Given the description of an element on the screen output the (x, y) to click on. 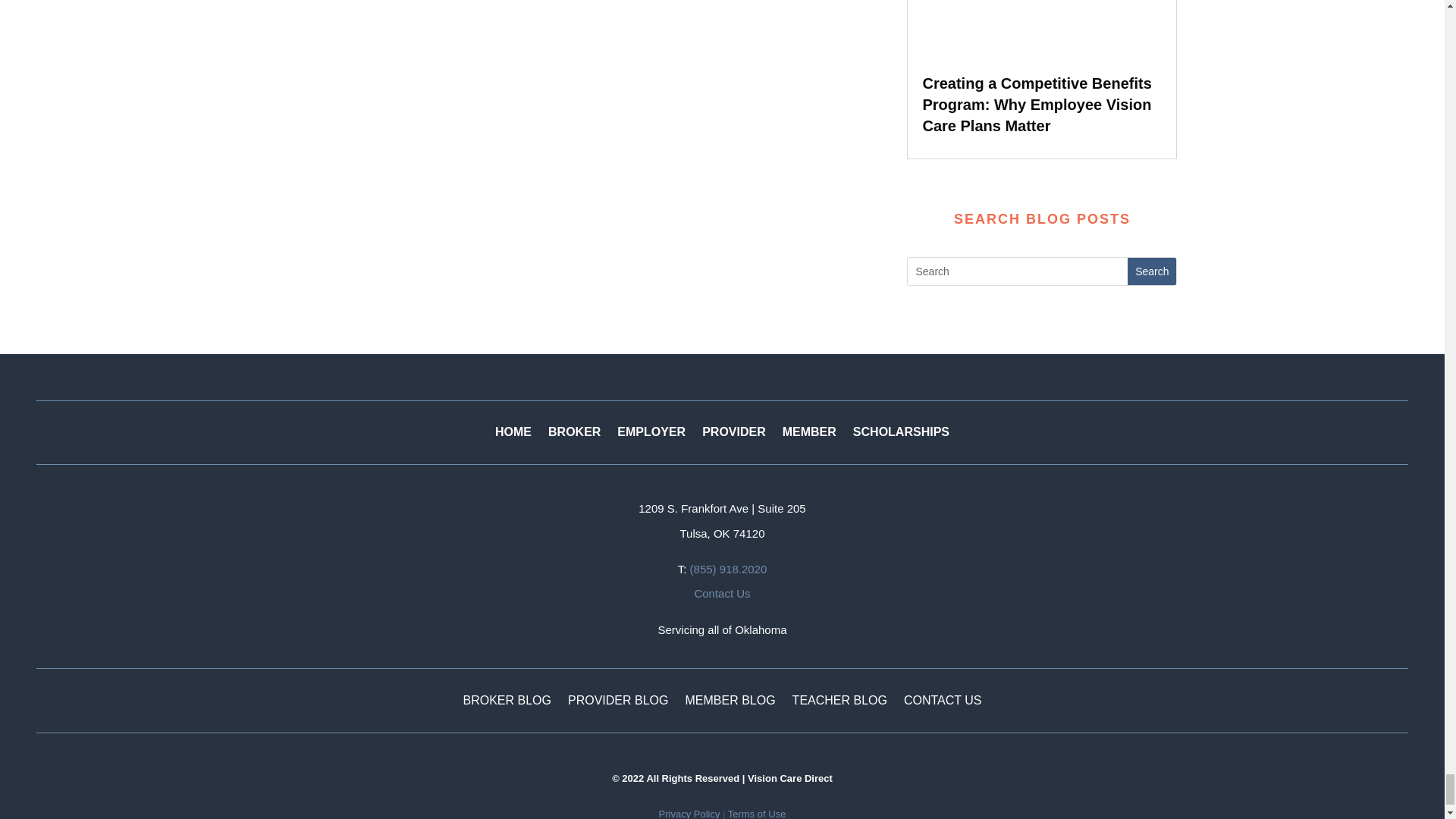
Search (1151, 271)
Search (1151, 271)
